Given the description of an element on the screen output the (x, y) to click on. 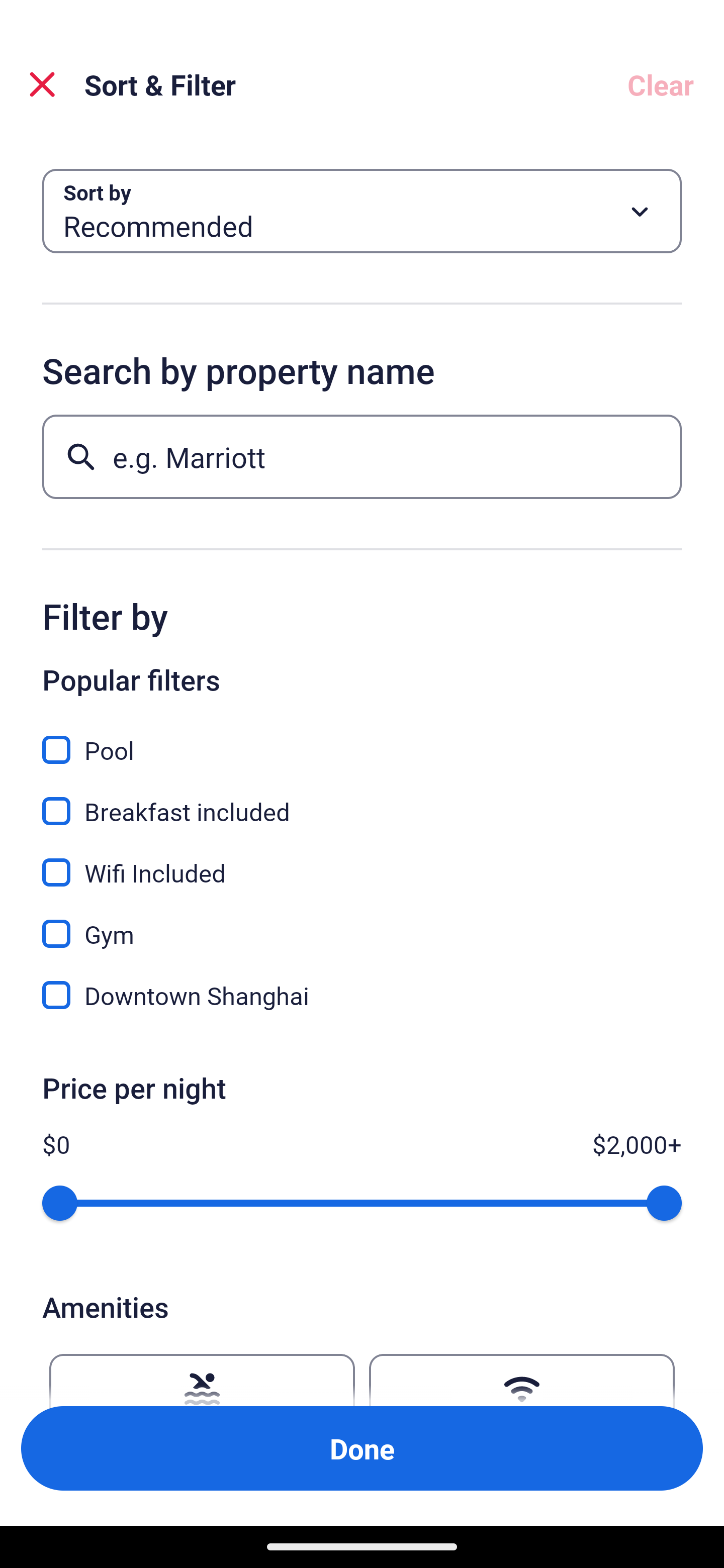
Close Sort and Filter (42, 84)
Clear (660, 84)
Sort by Button Recommended (361, 211)
e.g. Marriott Button (361, 455)
Pool, Pool (361, 738)
Breakfast included, Breakfast included (361, 800)
Wifi Included, Wifi Included (361, 861)
Gym, Gym (361, 922)
Downtown Shanghai, Downtown Shanghai (361, 995)
Apply and close Sort and Filter Done (361, 1448)
